Given the description of an element on the screen output the (x, y) to click on. 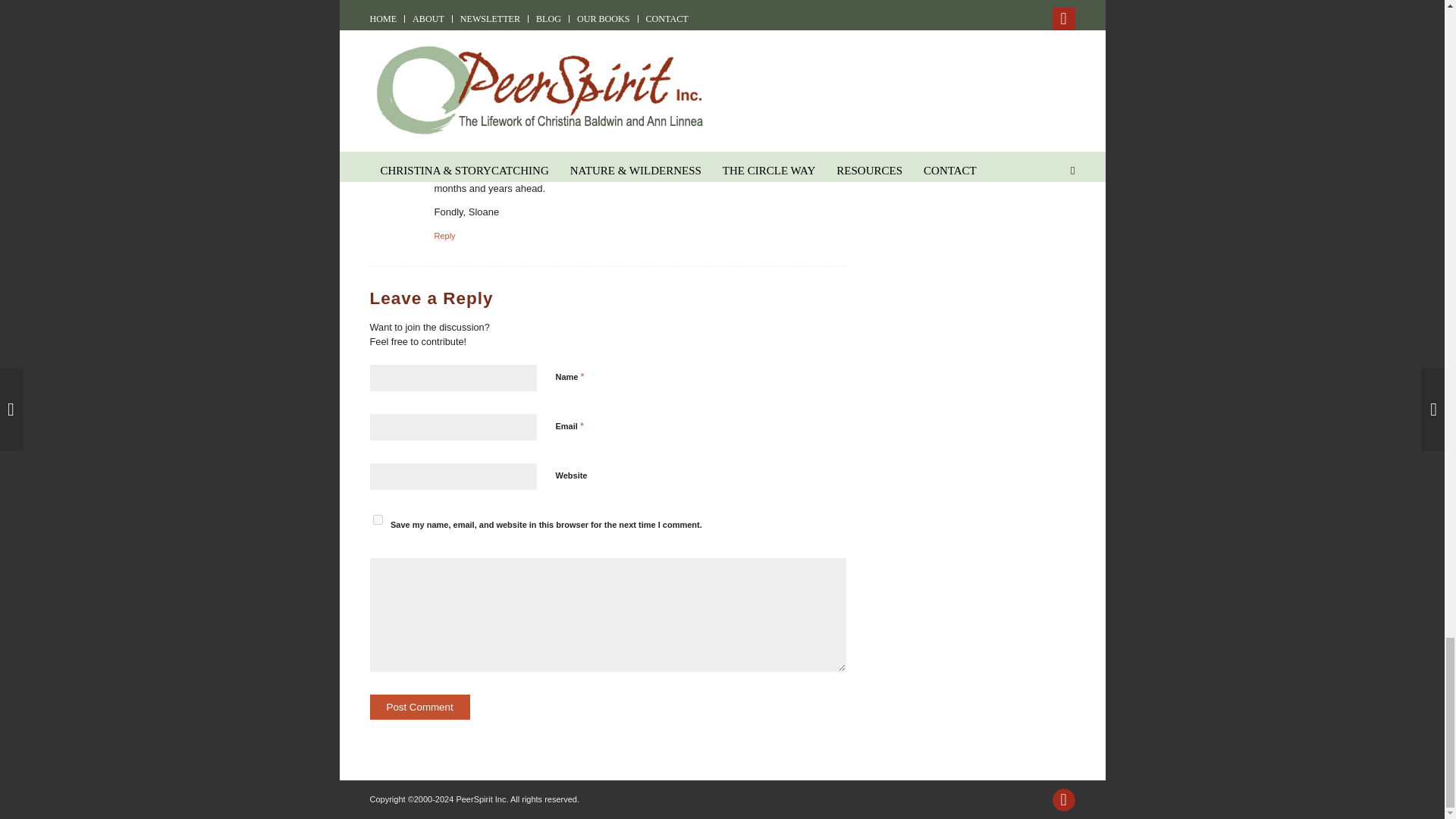
Post Comment (419, 706)
September 24, 2016 at 6:27 pm (492, 62)
Reply (443, 235)
yes (377, 519)
